Given the description of an element on the screen output the (x, y) to click on. 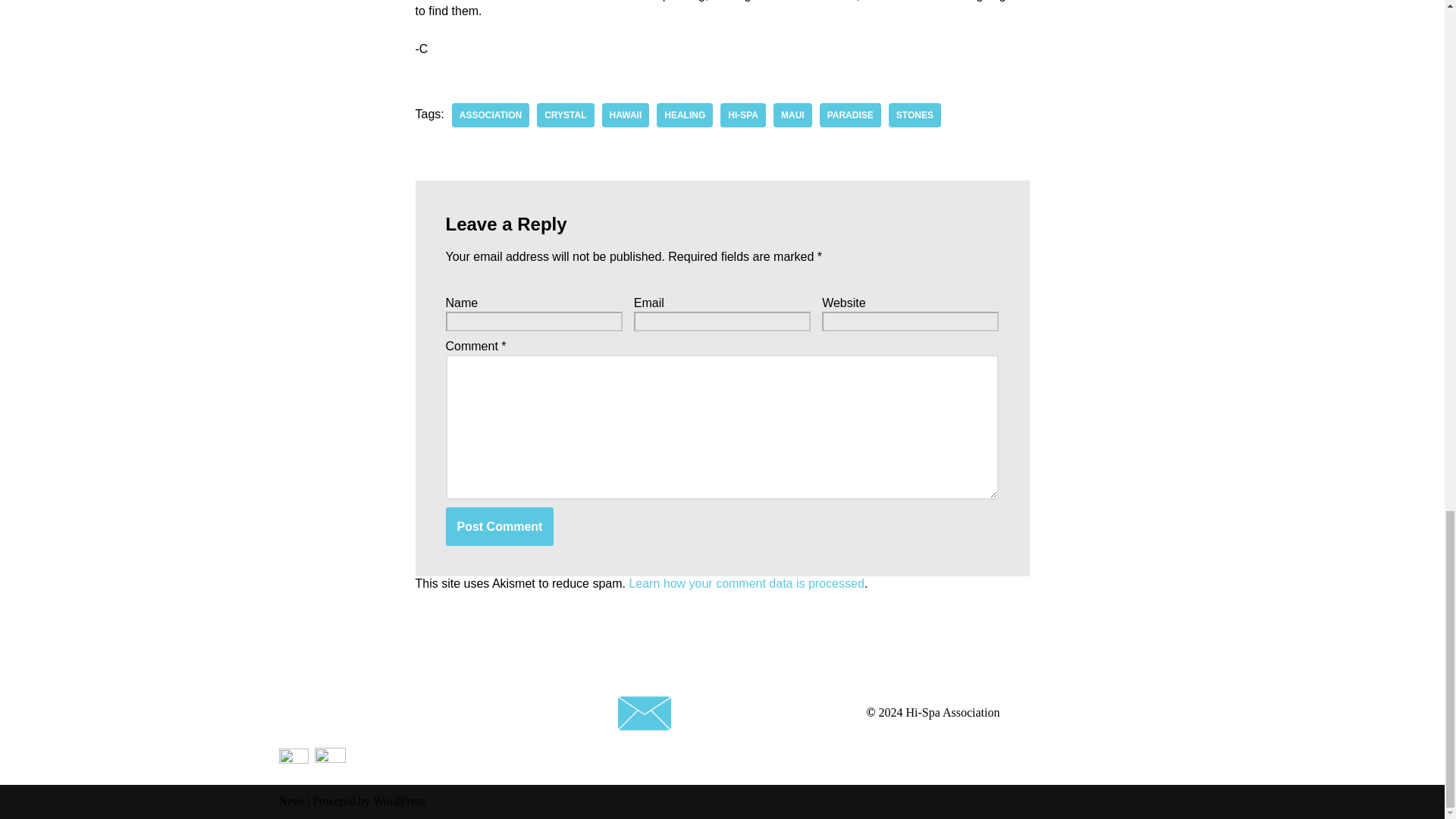
Neve (291, 800)
maui (792, 115)
Learn how your comment data is processed (745, 583)
Post Comment (499, 526)
paradise (849, 115)
crystal (565, 115)
WordPress (398, 800)
Post Comment (499, 526)
healing (684, 115)
association (490, 115)
MAUI (792, 115)
HI-SPA (742, 115)
HEALING (684, 115)
HAWAII (625, 115)
hawaii (625, 115)
